Given the description of an element on the screen output the (x, y) to click on. 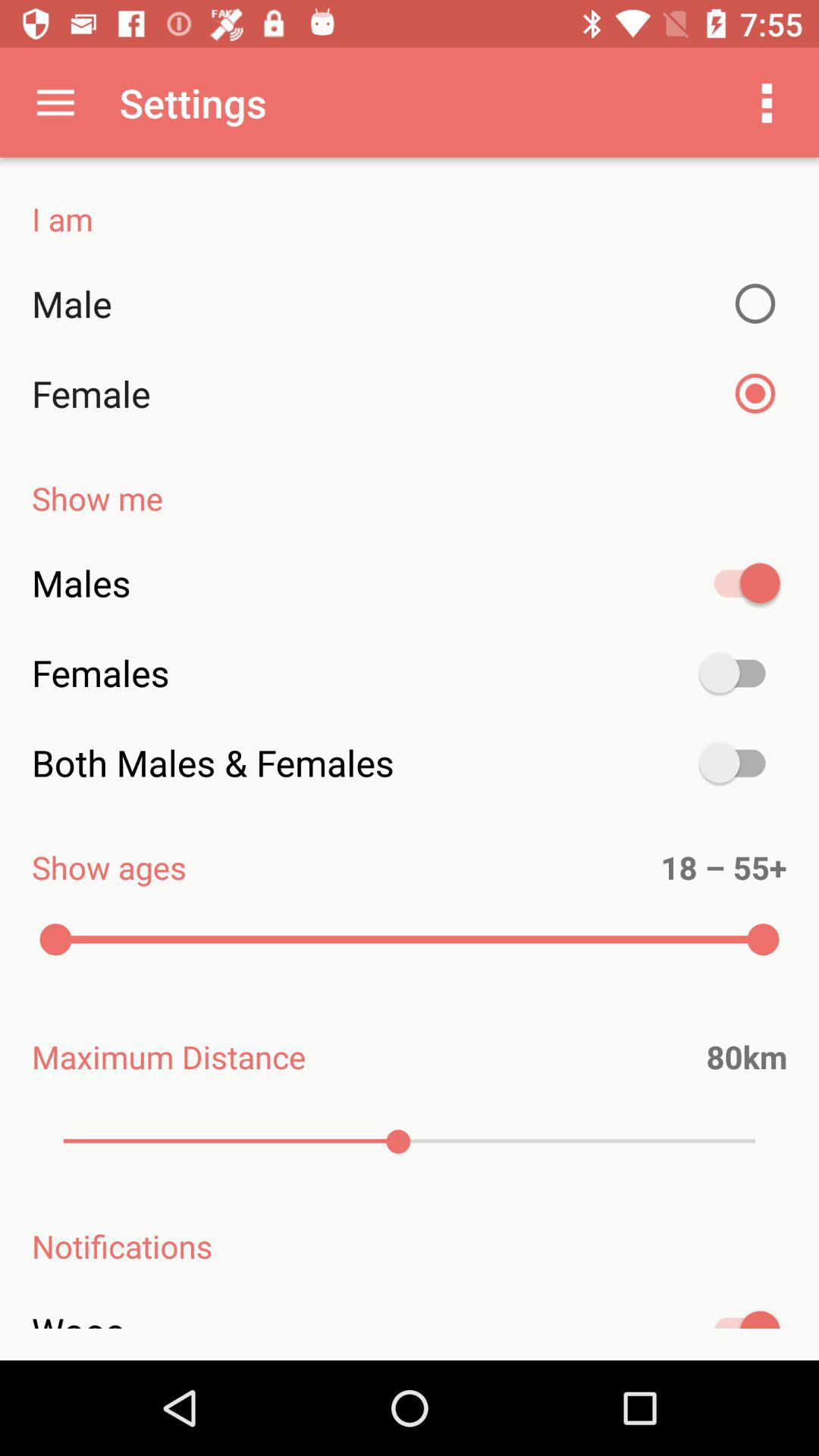
tap the male icon (409, 303)
